Given the description of an element on the screen output the (x, y) to click on. 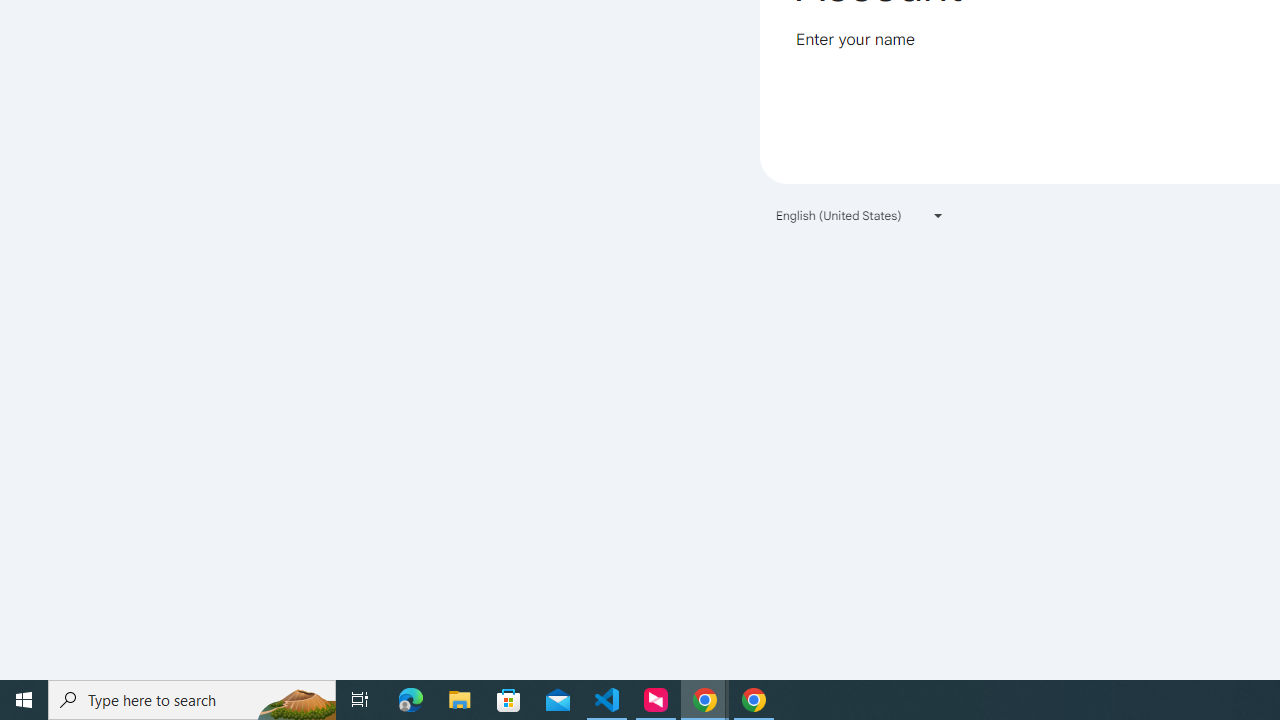
English (United States) (860, 214)
